Given the description of an element on the screen output the (x, y) to click on. 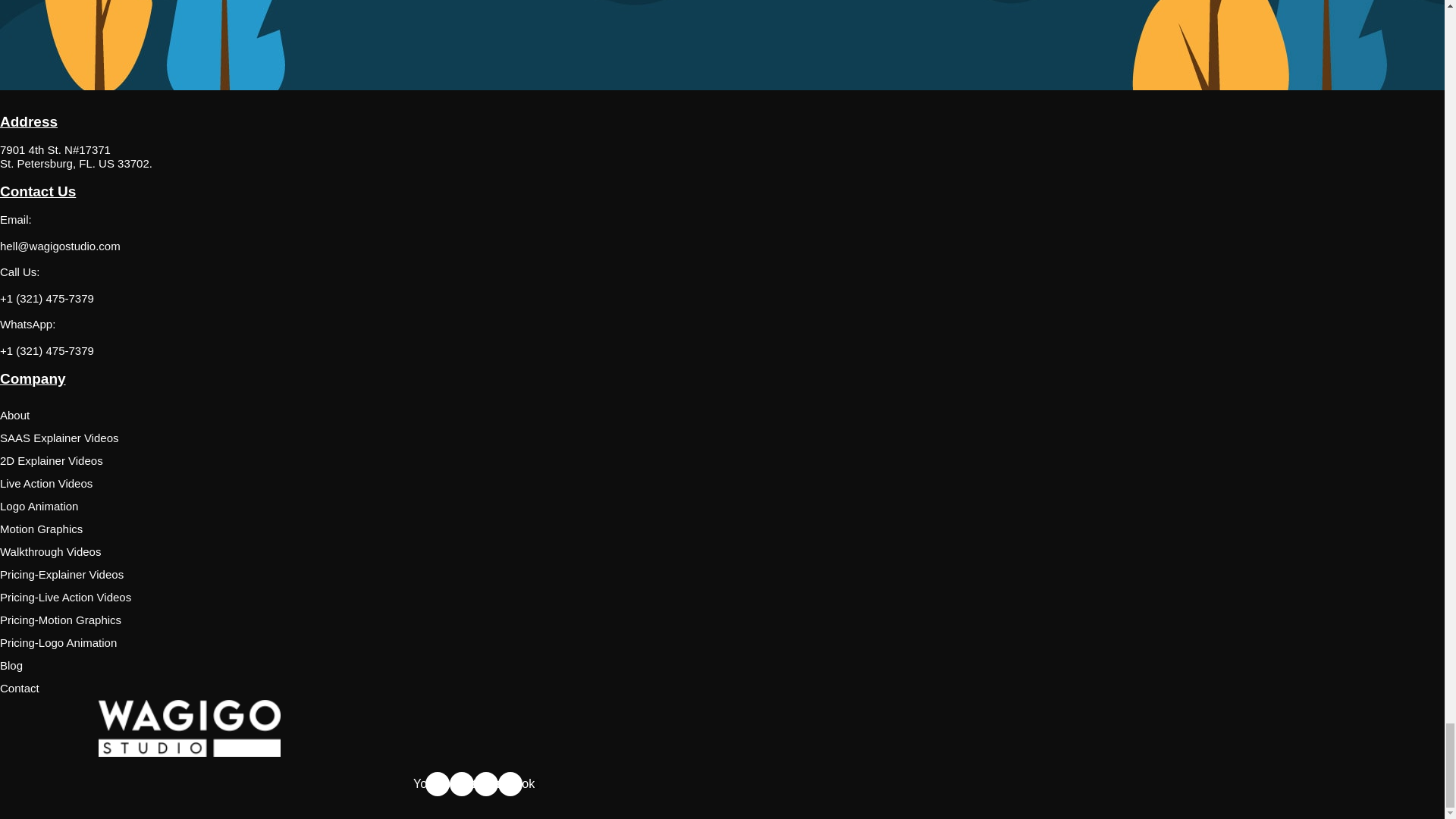
Pricing-Explainer Videos (473, 574)
Motion Graphics (473, 528)
2D Explainer Videos (473, 460)
Live Action Videos (473, 483)
SAAS Explainer Videos (473, 437)
Logo Animation (473, 506)
About (473, 415)
Walkthrough Videos (473, 551)
